Given the description of an element on the screen output the (x, y) to click on. 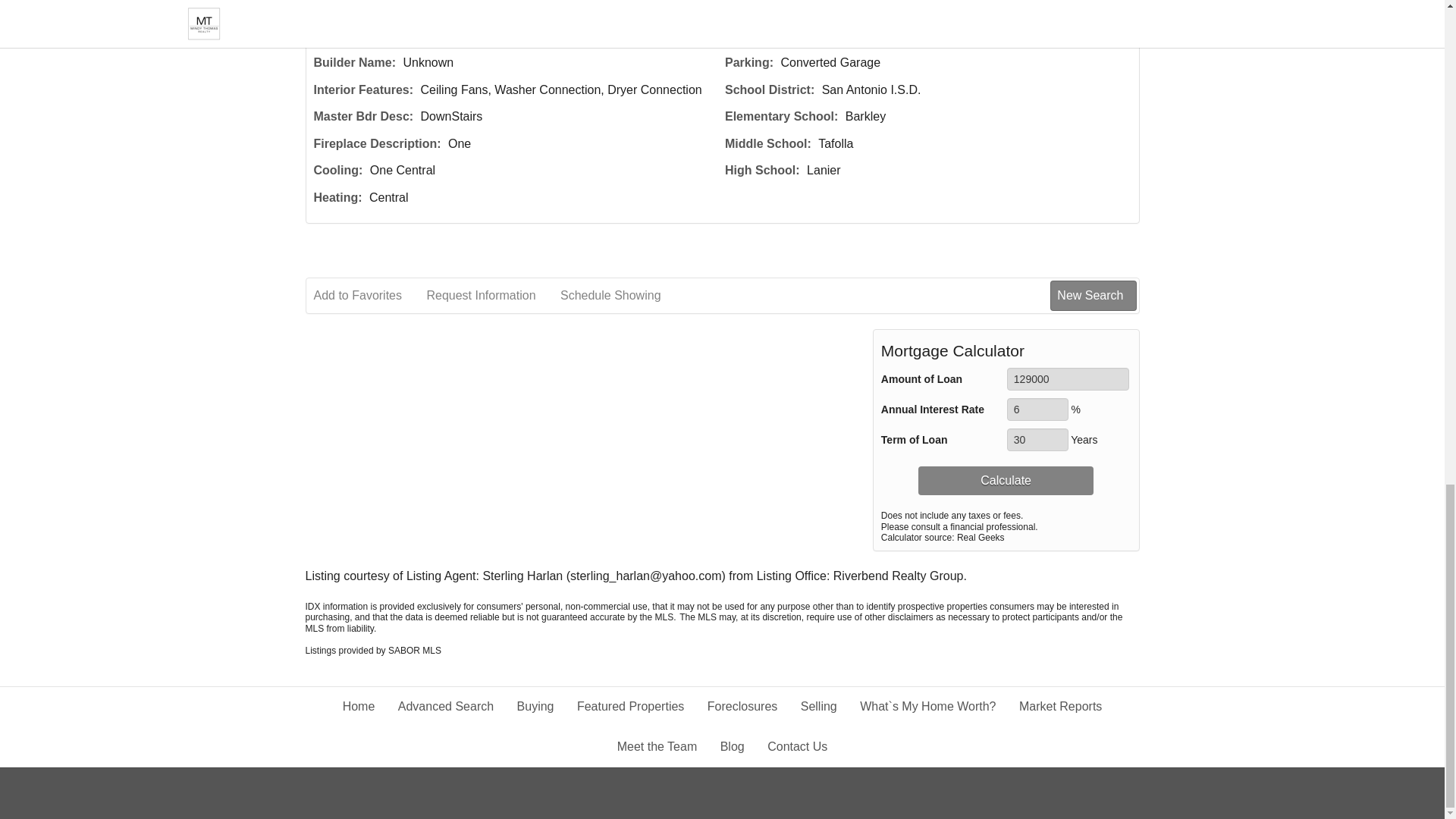
6 (1037, 409)
129000 (1068, 378)
30 (1037, 439)
